Given the description of an element on the screen output the (x, y) to click on. 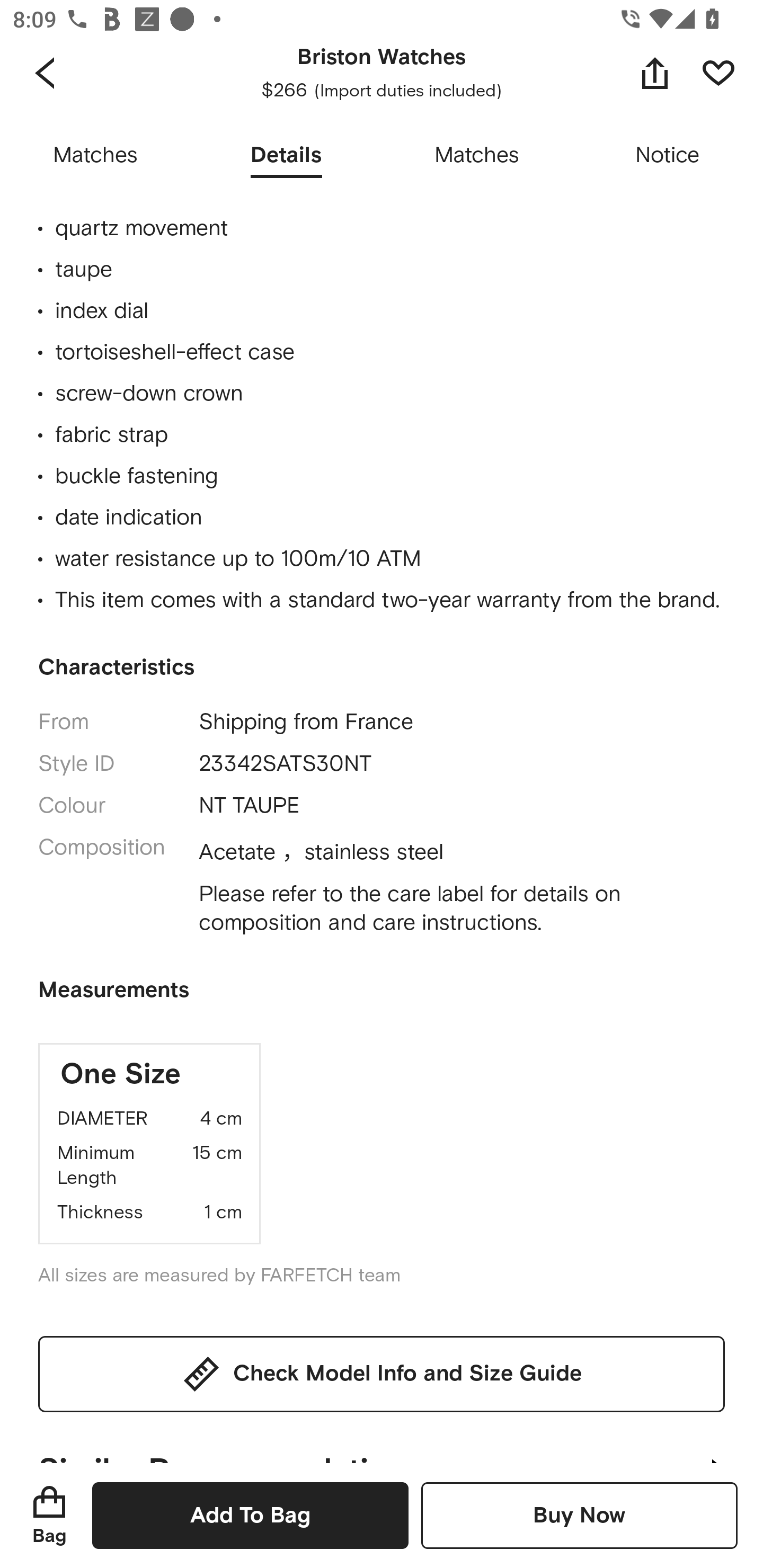
Matches (95, 155)
Matches (476, 155)
Notice (667, 155)
 Check Model Info and Size Guide (381, 1373)
Bag (49, 1515)
Add To Bag (250, 1515)
Buy Now (579, 1515)
